Given the description of an element on the screen output the (x, y) to click on. 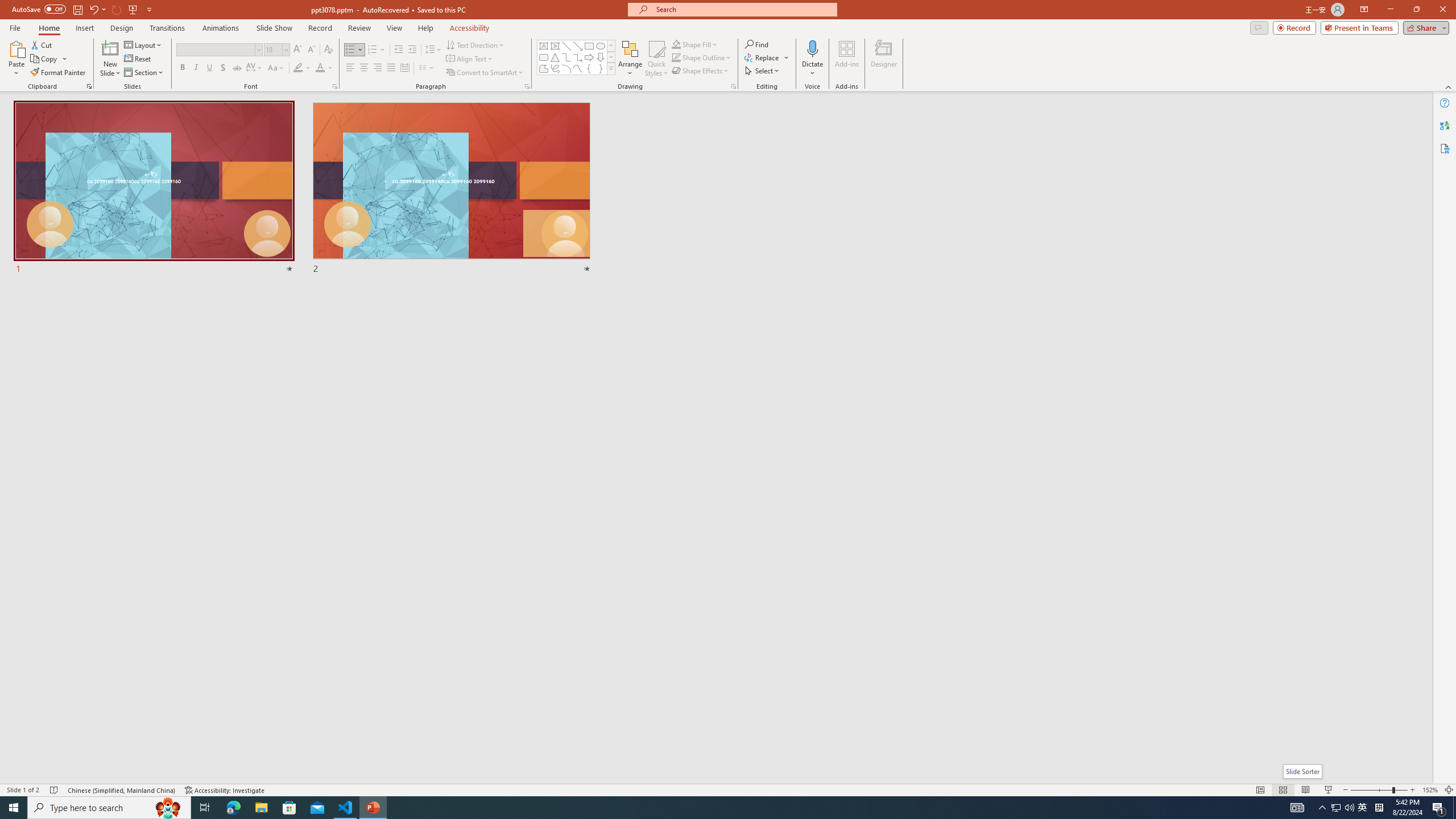
Zoom 152% (1430, 790)
